Given the description of an element on the screen output the (x, y) to click on. 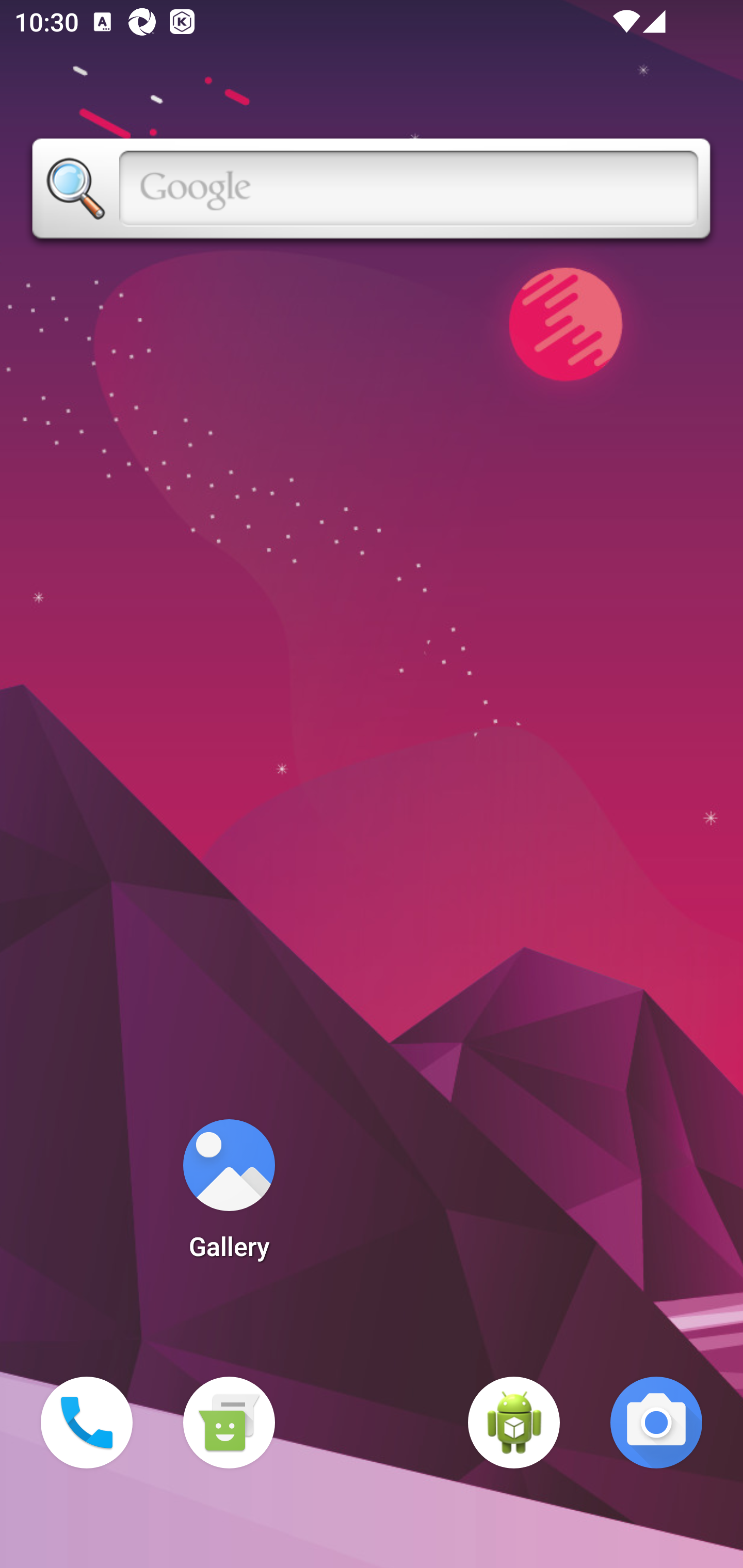
Gallery (228, 1195)
Phone (86, 1422)
Messaging (228, 1422)
WebView Browser Tester (513, 1422)
Camera (656, 1422)
